Given the description of an element on the screen output the (x, y) to click on. 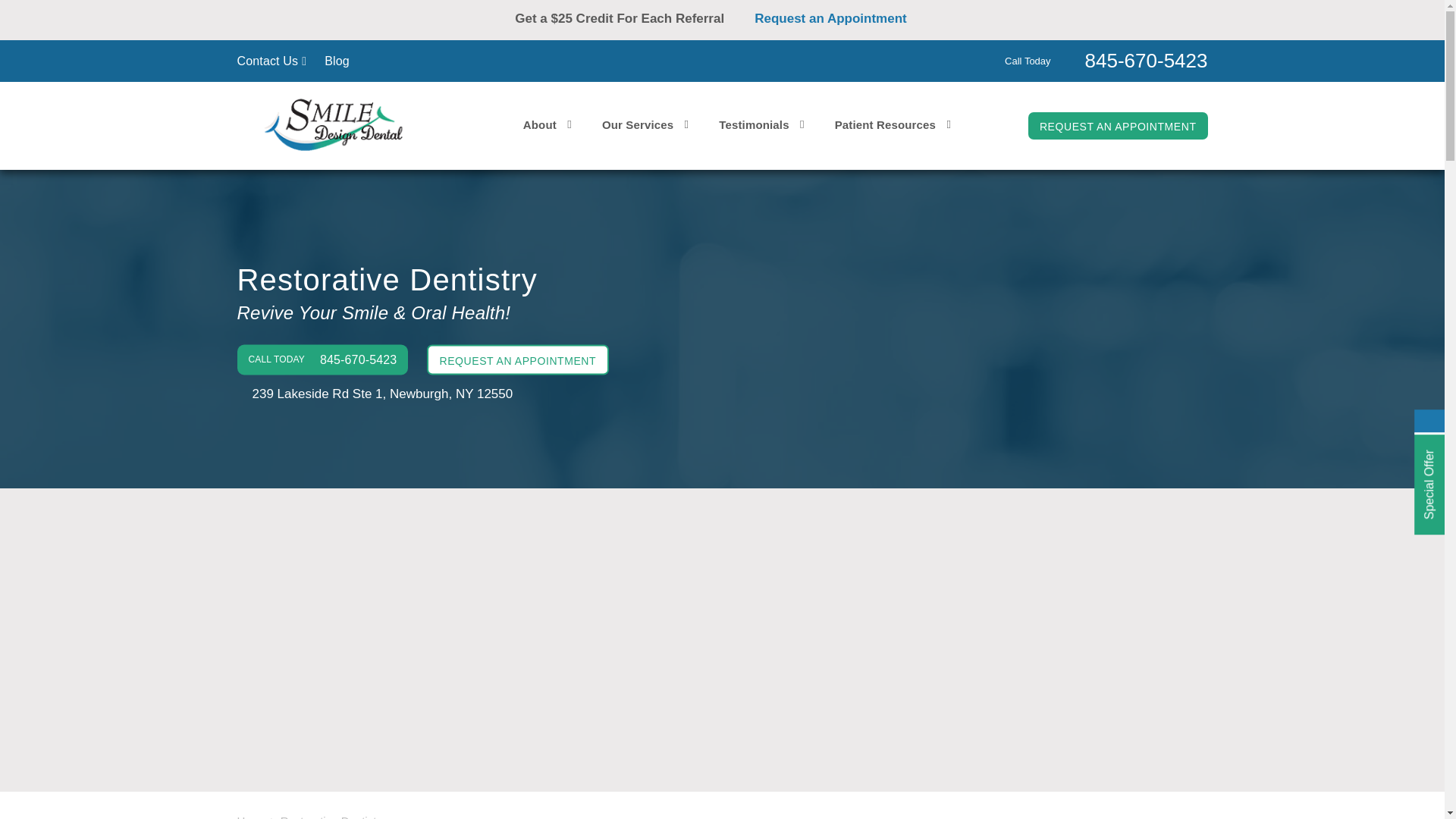
Contact Us (270, 60)
Testimonials (761, 124)
Call Today845-670-5423 (1105, 59)
Request an Appointment (842, 18)
Blog (336, 60)
